Given the description of an element on the screen output the (x, y) to click on. 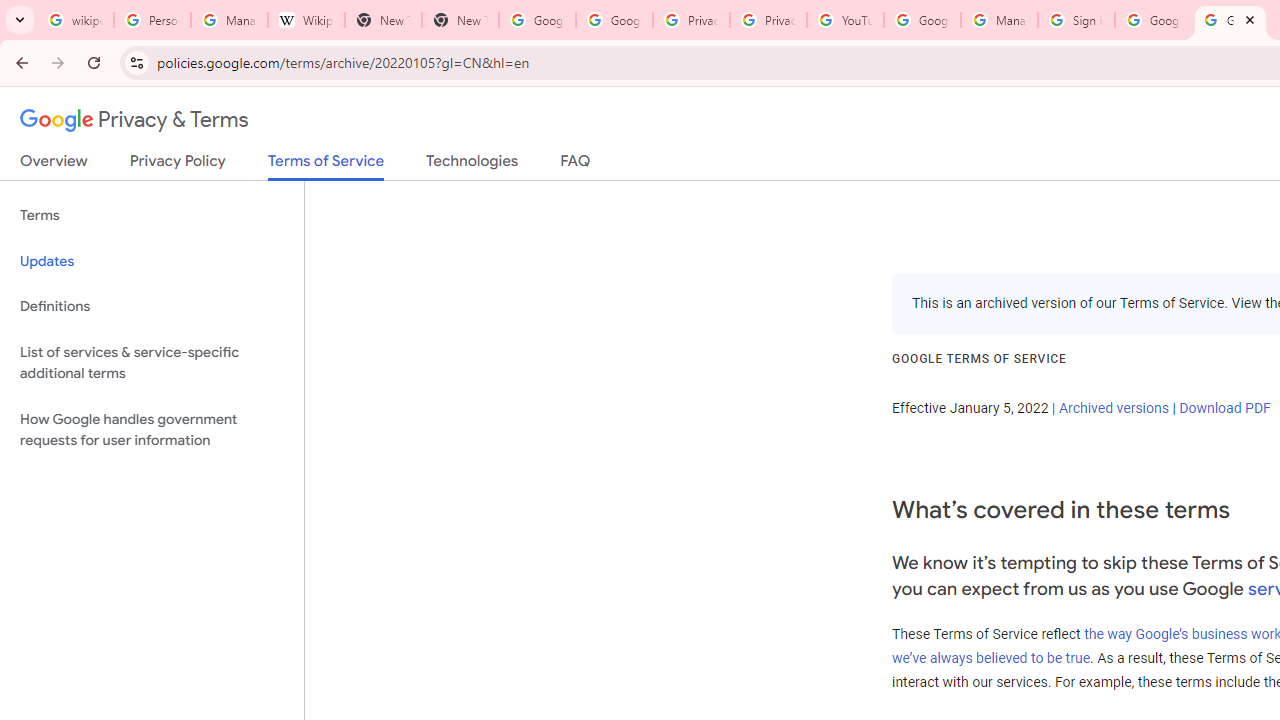
Personalization & Google Search results - Google Search Help (151, 20)
Google Account Help (922, 20)
New Tab (460, 20)
